Given the description of an element on the screen output the (x, y) to click on. 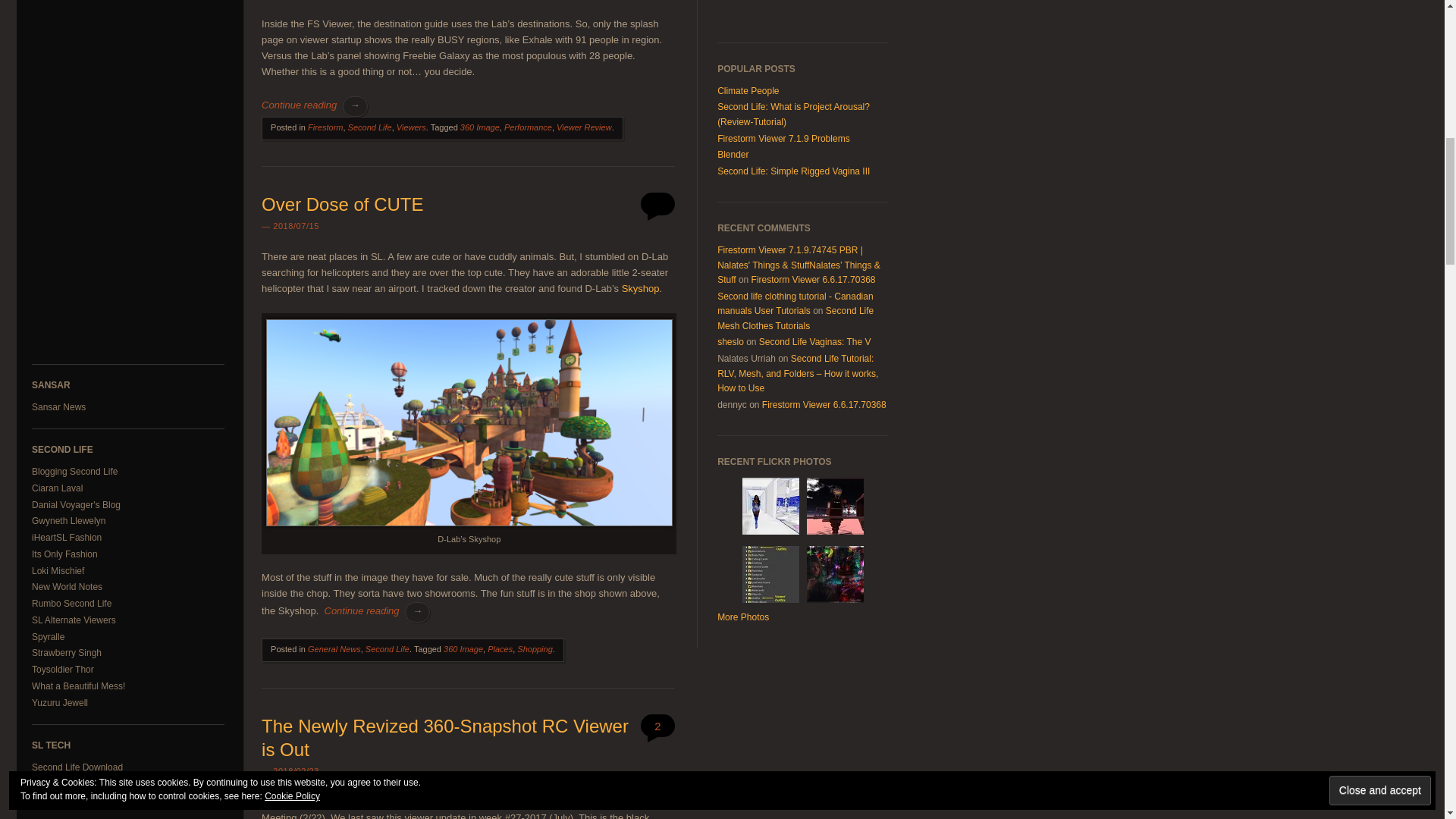
JUST ANOTHER UNAUTHORISED VIRTUAL WORLD FANSITE (57, 488)
Sansar News (58, 407)
Database of SL Blogs (74, 471)
In Depth Analysis of Second Life (68, 520)
Second Life Fashion and Stuff (66, 537)
Blogging Second Life (74, 471)
The unofficial Sansar News (58, 407)
